Given the description of an element on the screen output the (x, y) to click on. 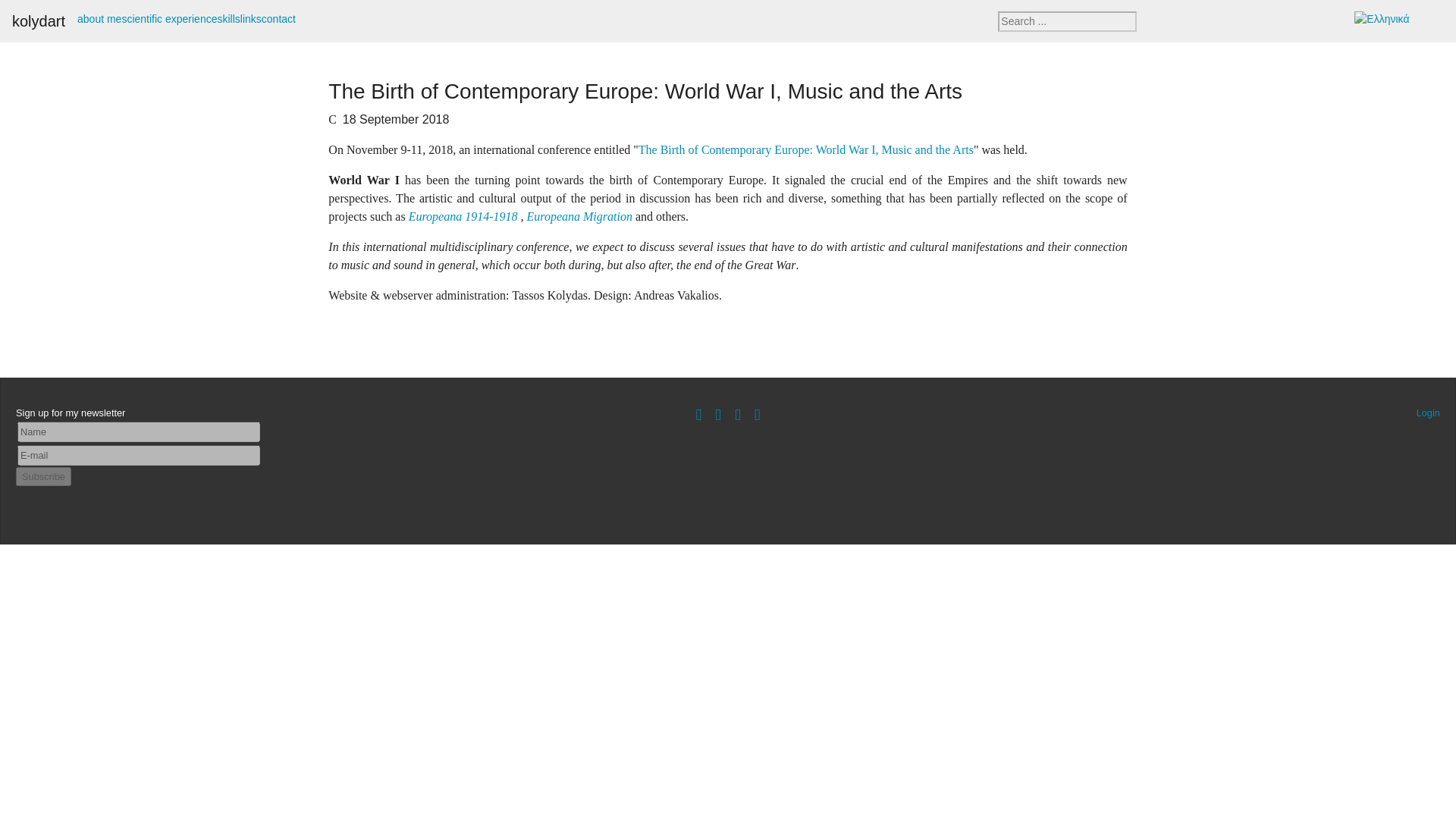
about me (98, 18)
E-mail (138, 455)
Europeana Migration (578, 215)
scientific experience (168, 18)
Subscribe (43, 476)
contact (278, 18)
kolydart (38, 20)
Login (1427, 412)
Name (138, 431)
Europeana 1914-1918 (463, 215)
skills (228, 18)
links (251, 18)
